Given the description of an element on the screen output the (x, y) to click on. 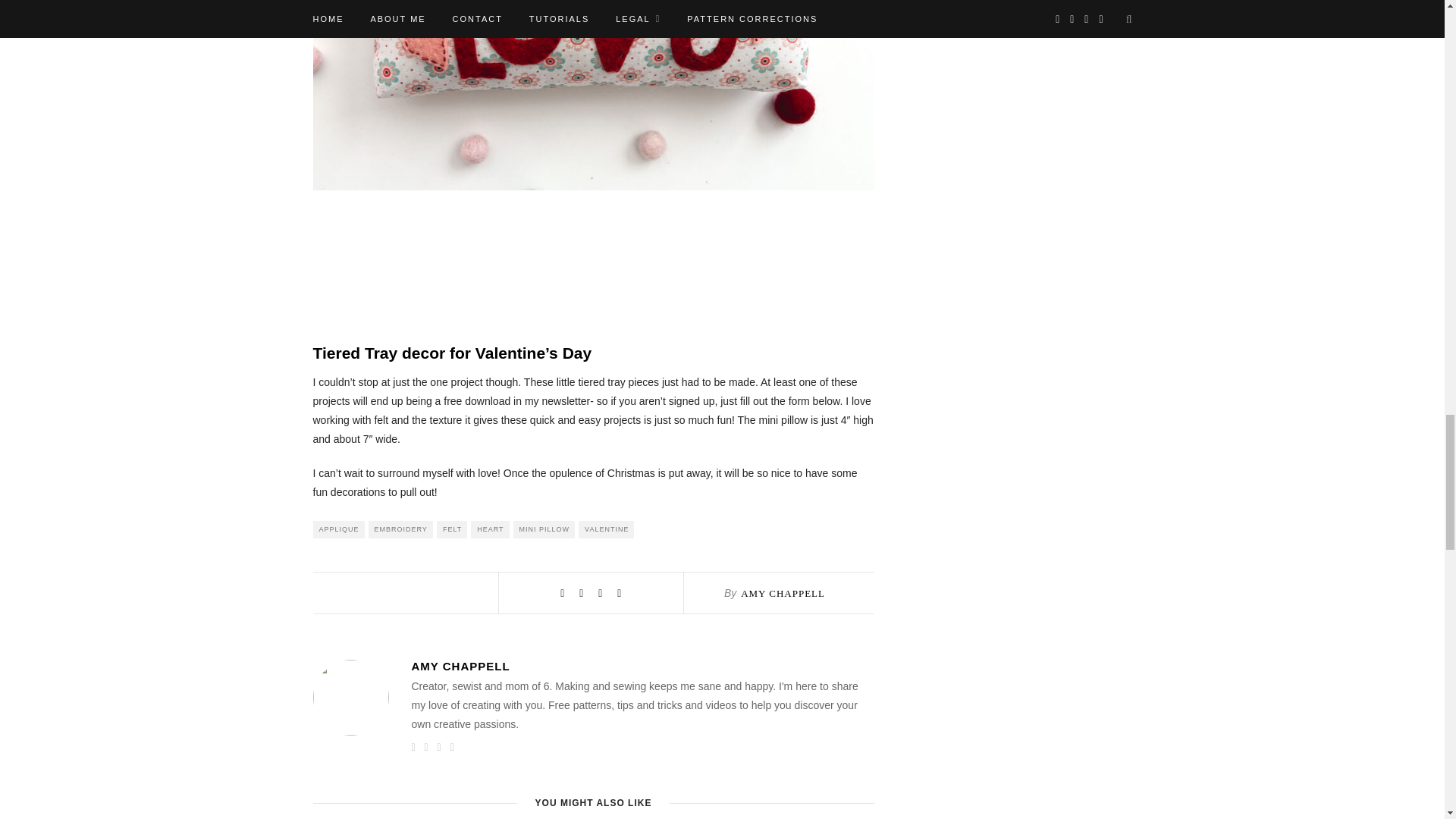
APPLIQUE (338, 529)
AMY CHAPPELL (783, 593)
MINI PILLOW (544, 529)
FELT (451, 529)
VALENTINE (605, 529)
AMY CHAPPELL (641, 666)
Posts by Amy Chappell (783, 593)
EMBROIDERY (400, 529)
Posts by Amy Chappell (641, 666)
HEART (489, 529)
